Given the description of an element on the screen output the (x, y) to click on. 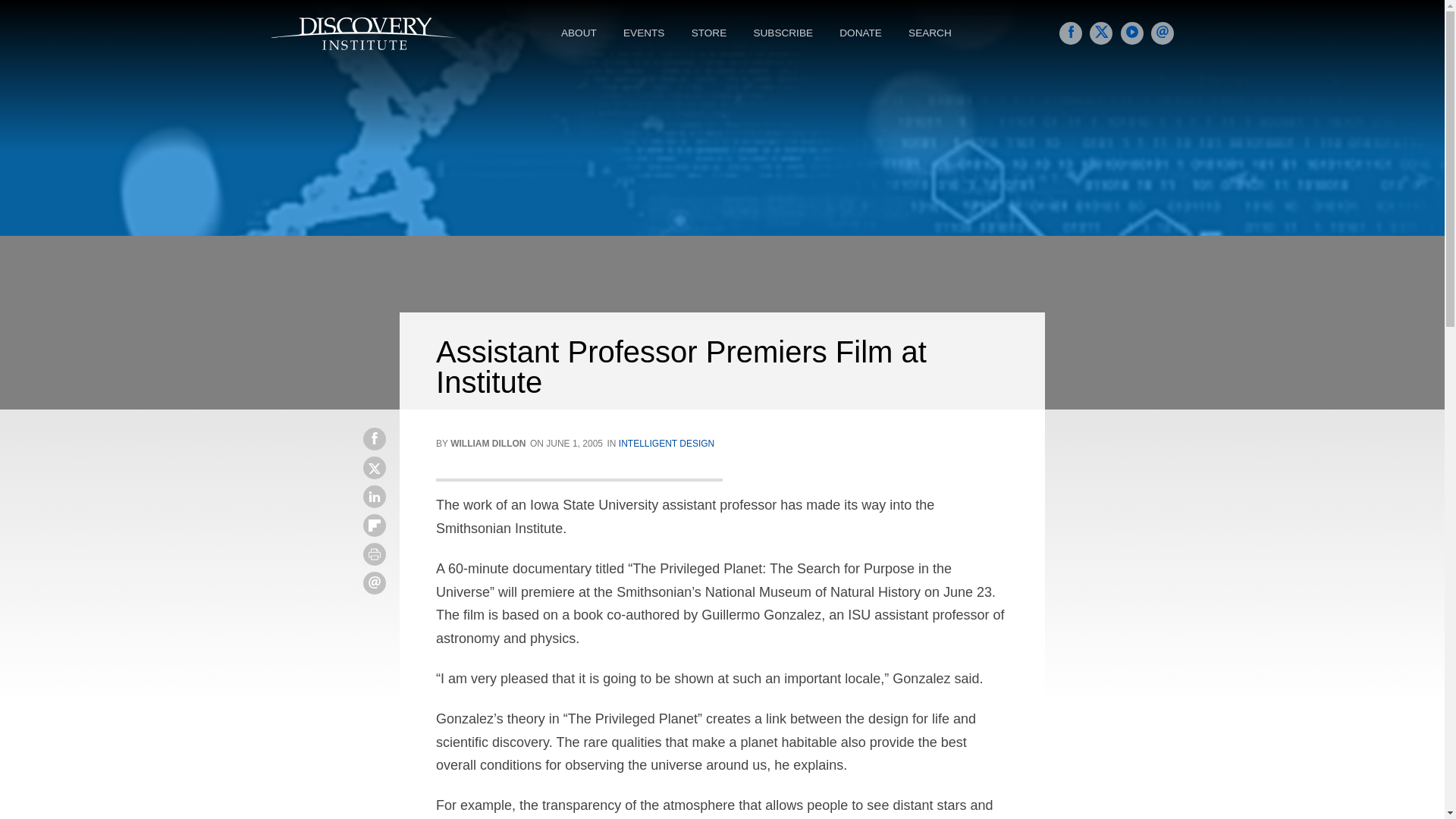
INTELLIGENT DESIGN (666, 443)
STORE (710, 32)
ABOUT (580, 32)
EVENTS (645, 32)
SUBSCRIBE (784, 32)
DONATE (862, 32)
SEARCH (931, 32)
